Given the description of an element on the screen output the (x, y) to click on. 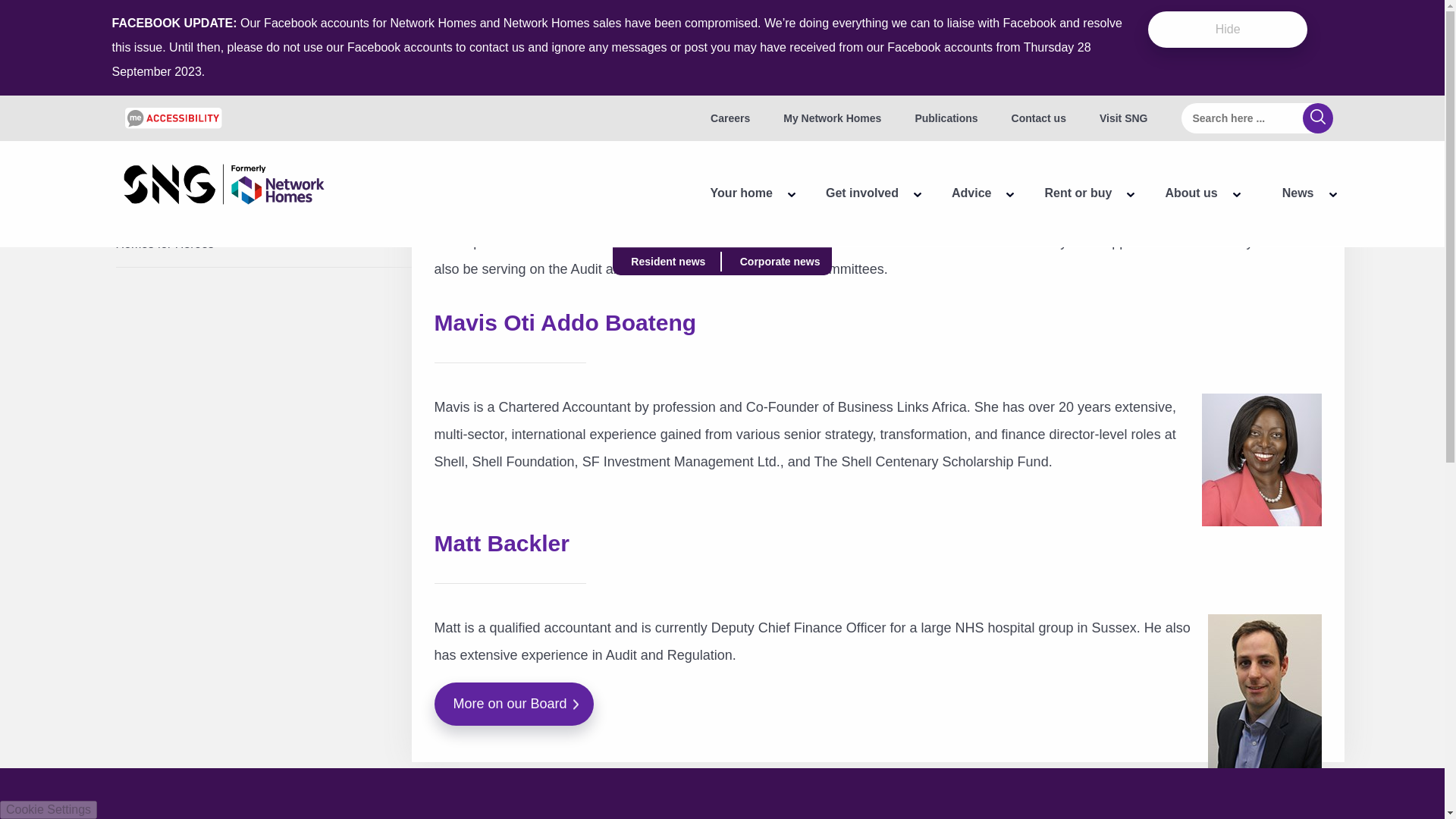
Home (222, 185)
My Network Homes (831, 118)
Contact us (1038, 118)
Get involved (854, 192)
Cookie Settings (48, 809)
Visit SNG (1123, 118)
Publications (945, 118)
Hide (1227, 29)
Search (1318, 118)
Careers (729, 118)
